Given the description of an element on the screen output the (x, y) to click on. 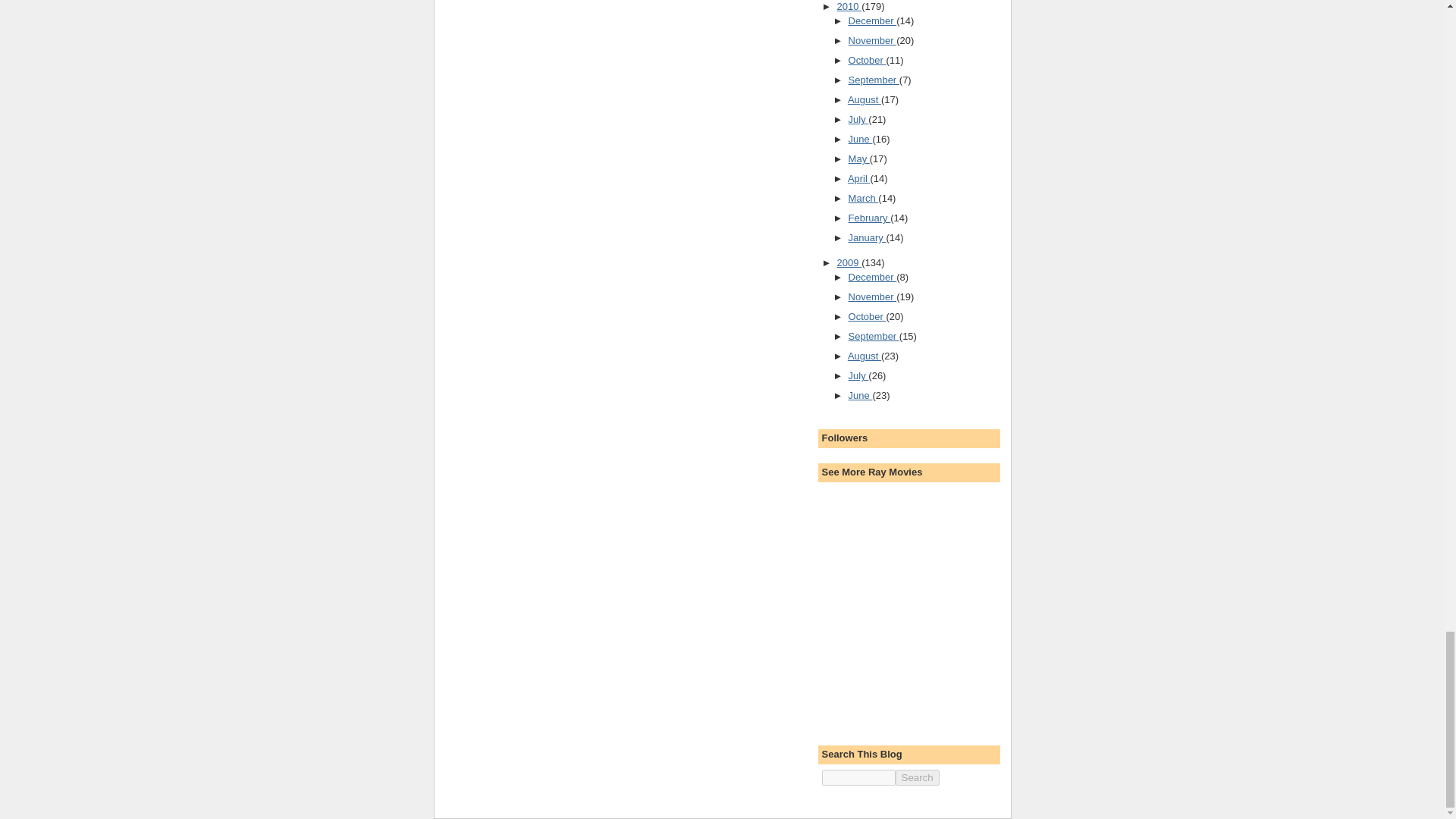
Search (917, 777)
Search (917, 777)
search (858, 777)
search (917, 777)
